Given the description of an element on the screen output the (x, y) to click on. 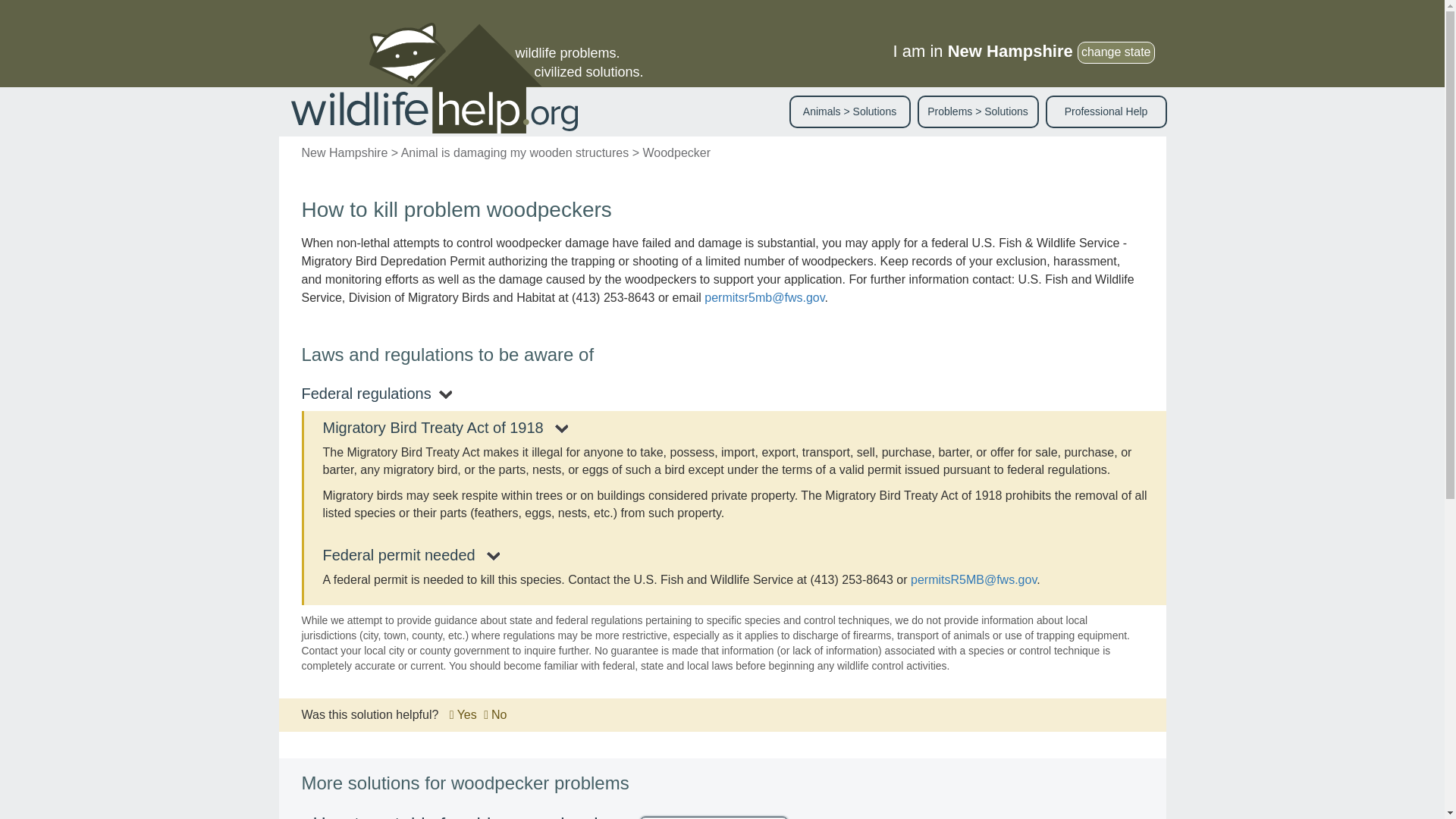
change state (1115, 52)
Home (440, 77)
Professional Help (1105, 111)
